Given the description of an element on the screen output the (x, y) to click on. 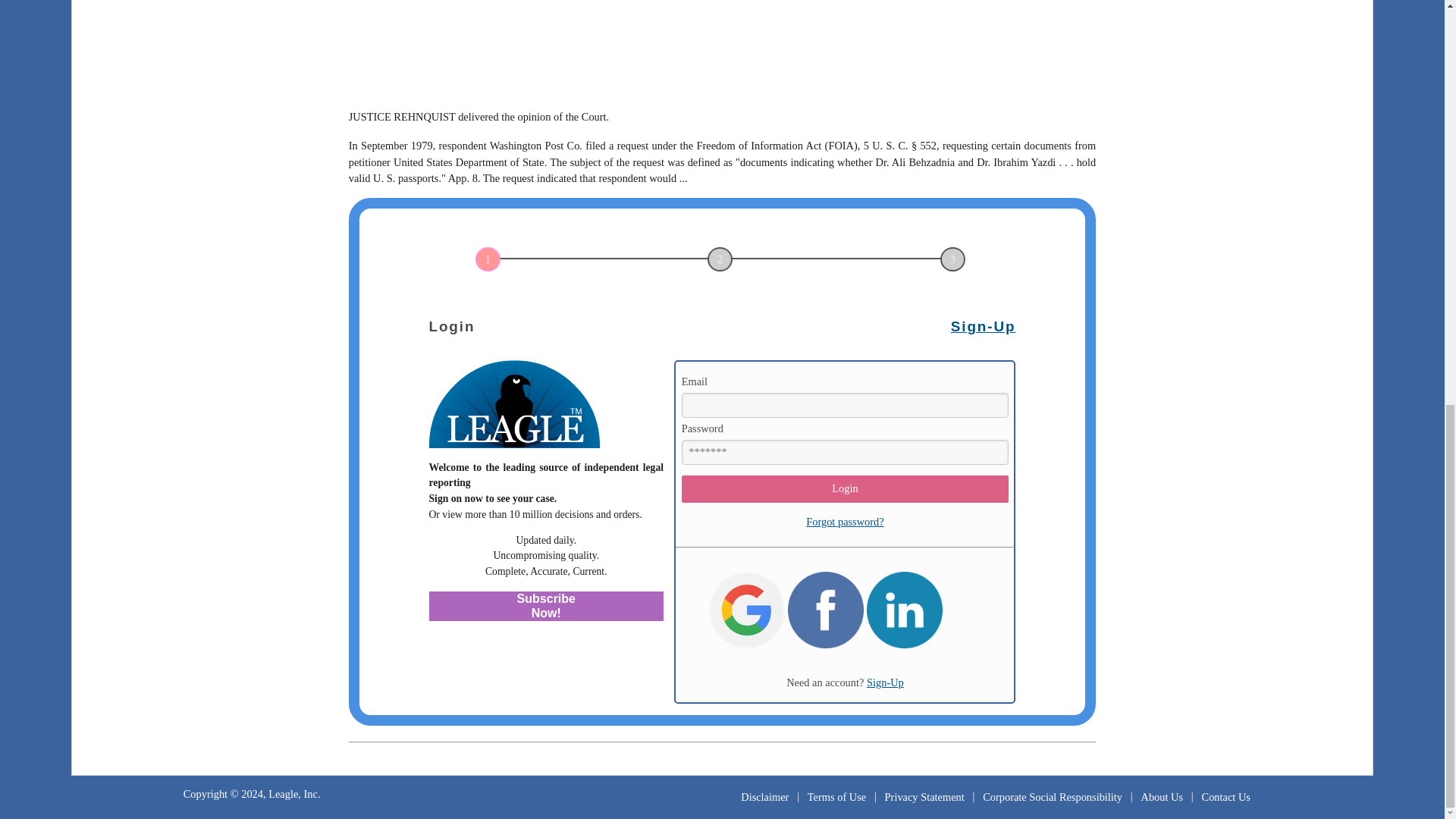
Advertisement (722, 48)
Sign-Up (885, 682)
Login (845, 488)
Forgot password? (844, 521)
Privacy Statement (924, 796)
Sign-Up (983, 326)
Terms of Use (837, 796)
About Us (1162, 796)
Corporate Social Responsibility (1052, 796)
Disclaimer (765, 796)
